Given the description of an element on the screen output the (x, y) to click on. 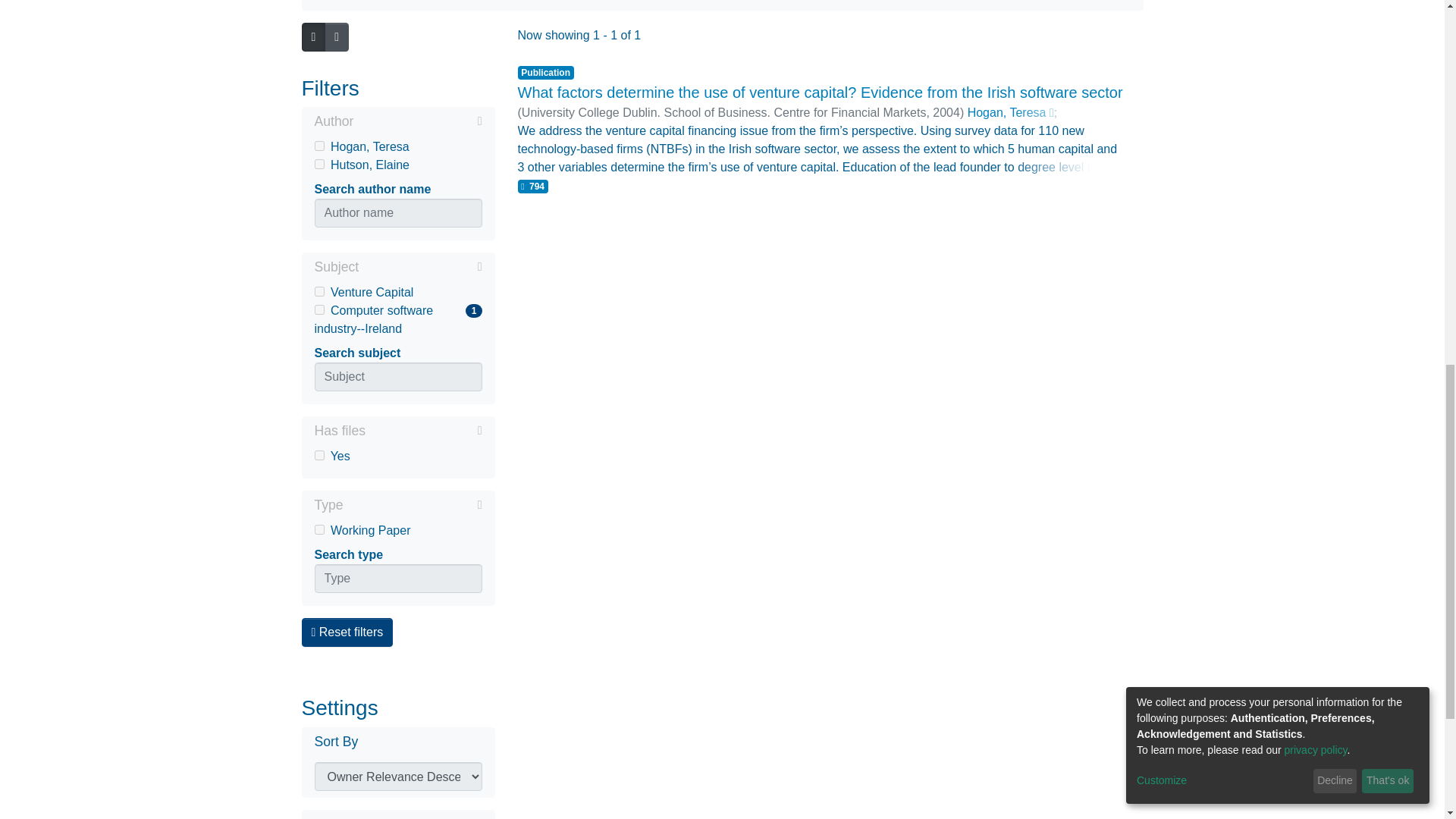
Hutson, Elaine (397, 165)
on (318, 455)
Hogan, Teresa (397, 147)
on (318, 529)
Yes (397, 456)
Type (397, 506)
Venture Capital (397, 292)
Author (397, 320)
Collapse filter (397, 122)
Collapse filter (417, 121)
Subject (419, 266)
Collapse filter (397, 268)
on (423, 430)
on (318, 163)
